Given the description of an element on the screen output the (x, y) to click on. 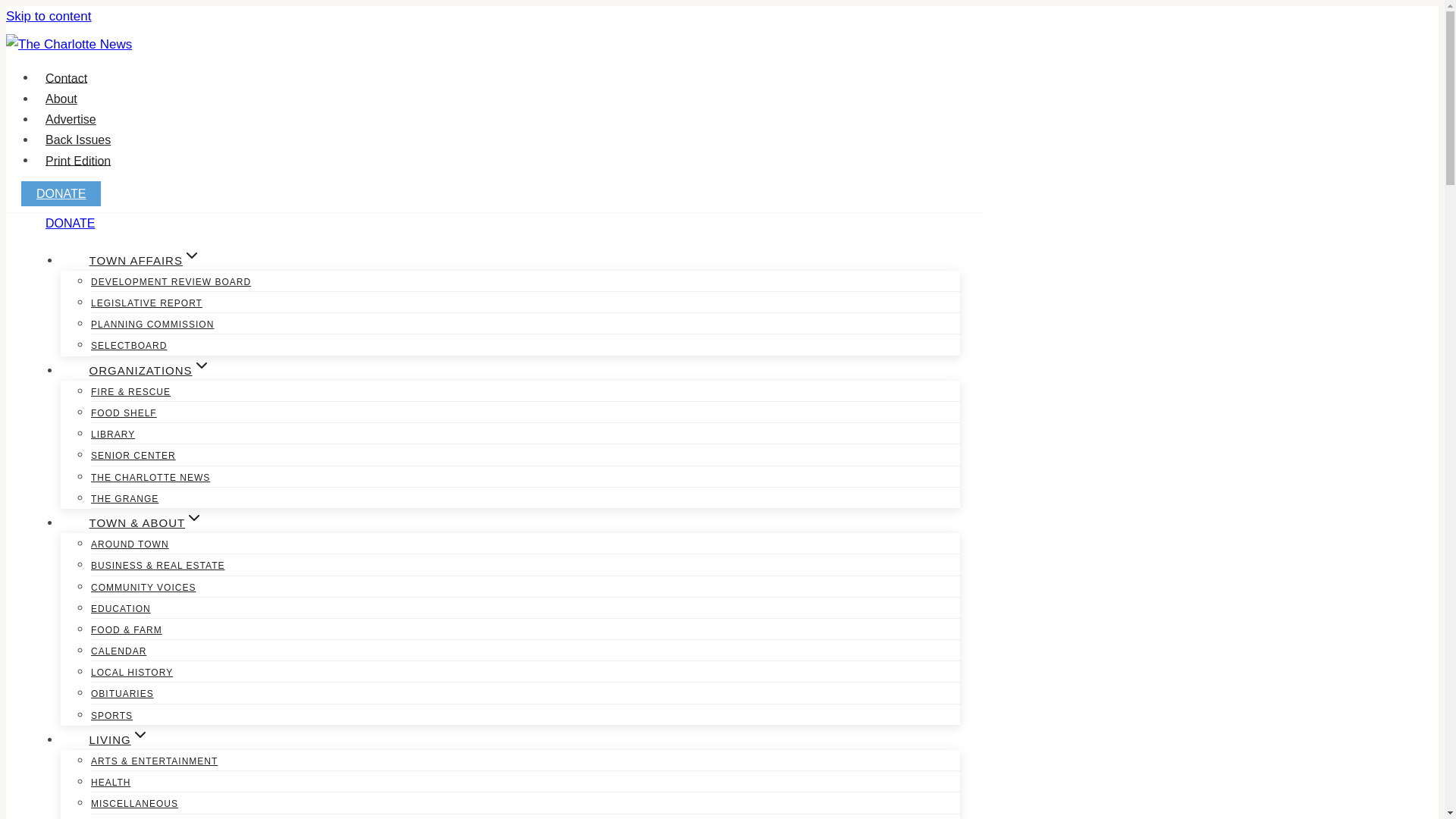
THE GRANGE (124, 498)
About (60, 98)
CALENDAR (118, 651)
Skip to content (47, 16)
SELECTBOARD (128, 345)
LOCAL HISTORY (131, 672)
DONATE (70, 222)
PLANNING COMMISSION (152, 324)
THE CHARLOTTE NEWS (149, 477)
LIVINGEXPAND (119, 739)
